Given the description of an element on the screen output the (x, y) to click on. 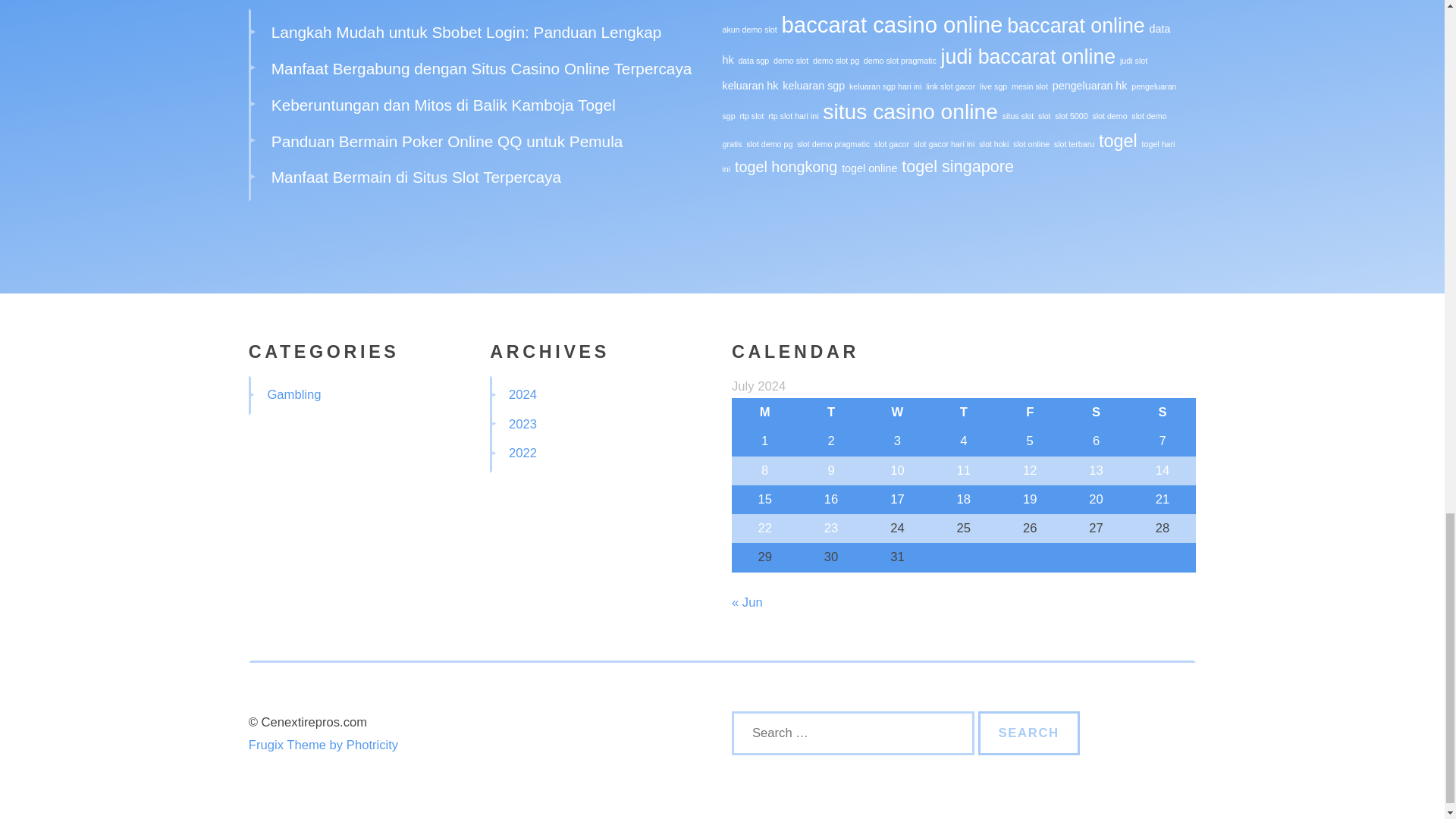
pengeluaran sgp (949, 100)
demo slot pragmatic (899, 60)
keluaran hk (749, 85)
Friday (1029, 412)
mesin slot (1029, 85)
rtp slot (750, 115)
Saturday (1095, 412)
Tuesday (830, 412)
Search (1029, 733)
Manfaat Bermain di Situs Slot Terpercaya (415, 176)
keluaran sgp (813, 85)
link slot gacor (950, 85)
judi baccarat online (1028, 56)
Sunday (1162, 412)
situs casino online (909, 111)
